Given the description of an element on the screen output the (x, y) to click on. 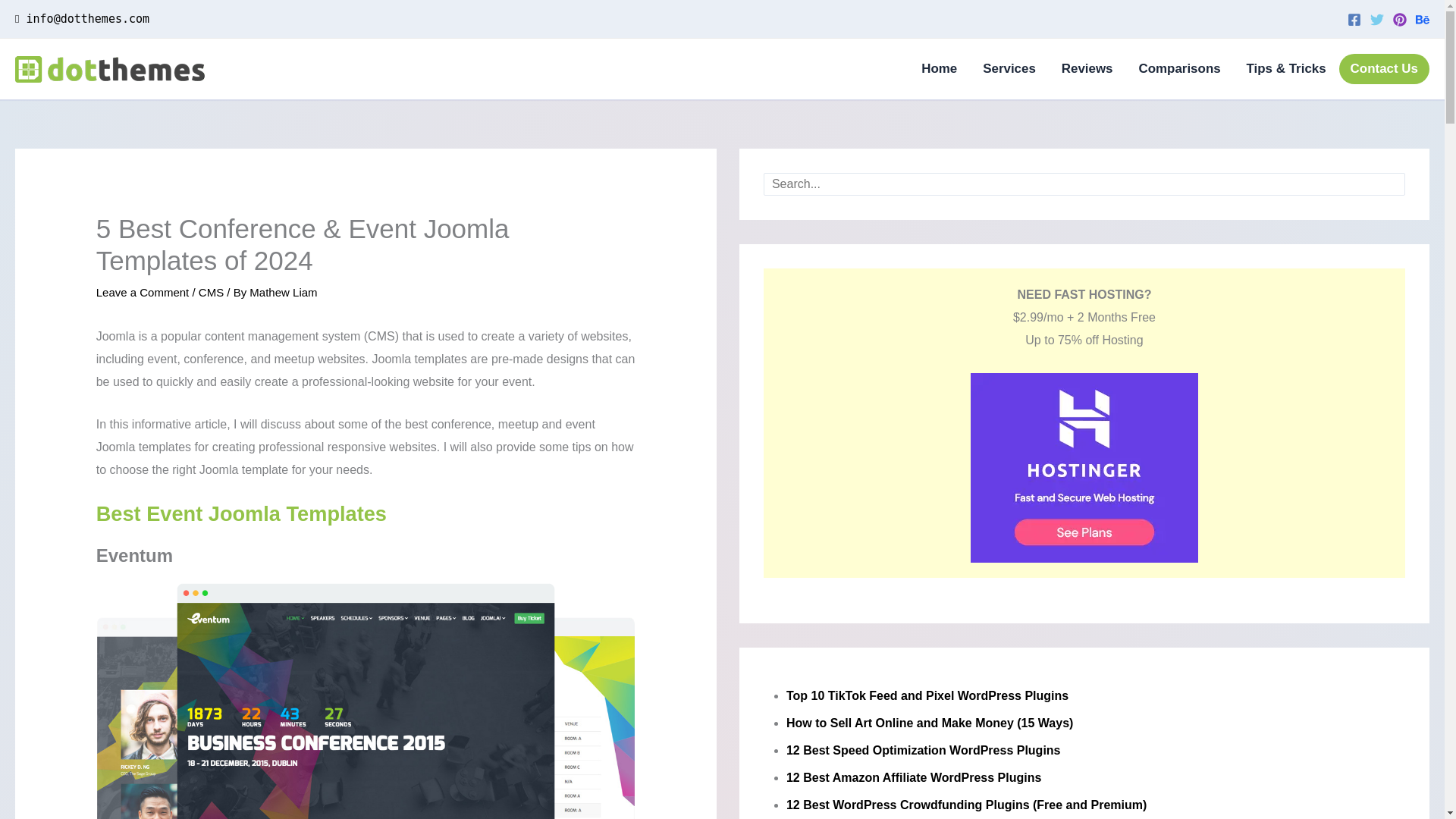
Home (938, 69)
CMS (211, 291)
View all posts by Mathew Liam (282, 291)
Leave a Comment (142, 291)
Mathew Liam (282, 291)
Services (1008, 69)
Contact Us (1384, 69)
Reviews (1086, 69)
Comparisons (1179, 69)
